Given the description of an element on the screen output the (x, y) to click on. 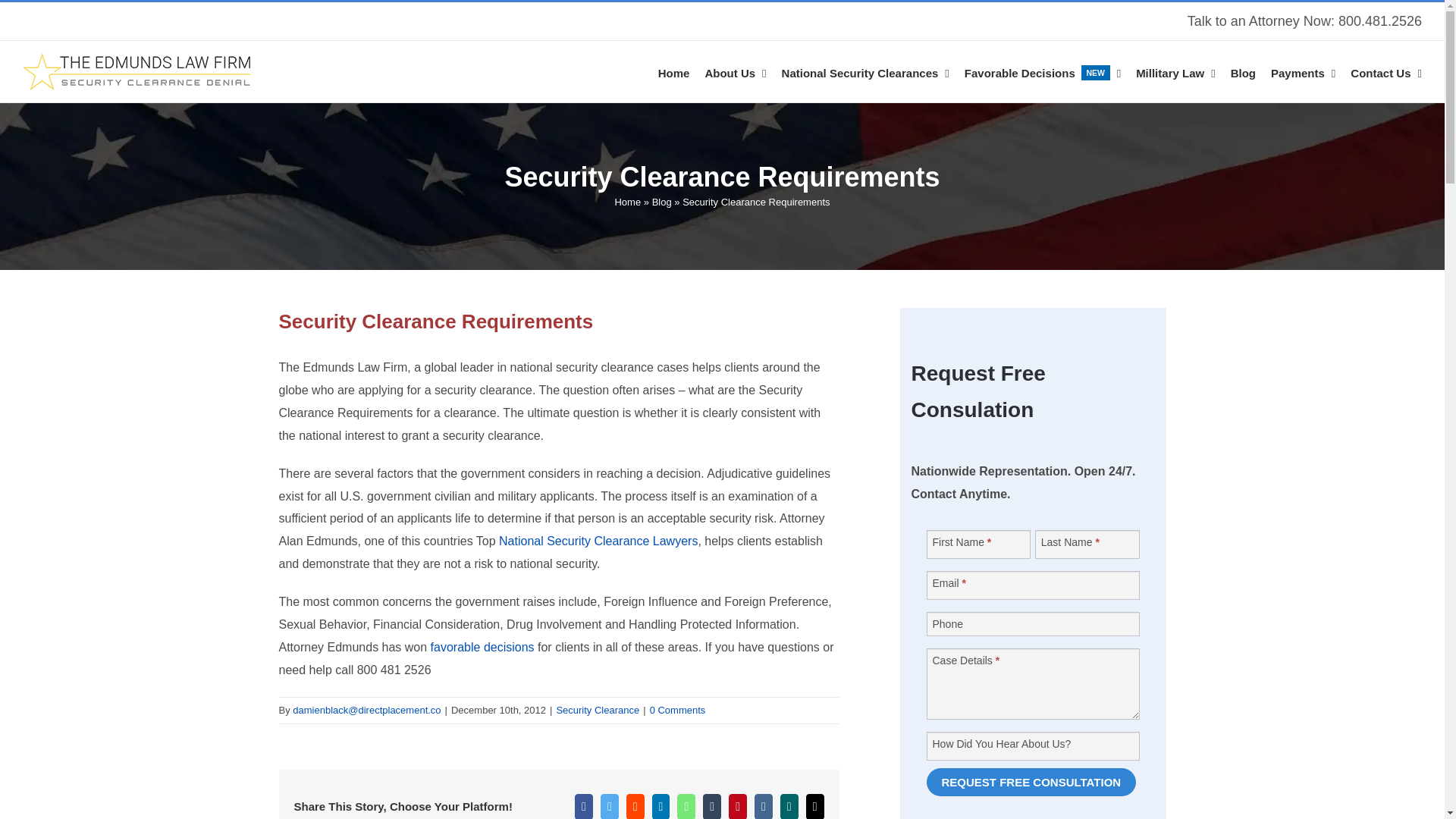
800.481.2526 (1042, 71)
About Us (1380, 20)
National Security Clearances (734, 71)
